Given the description of an element on the screen output the (x, y) to click on. 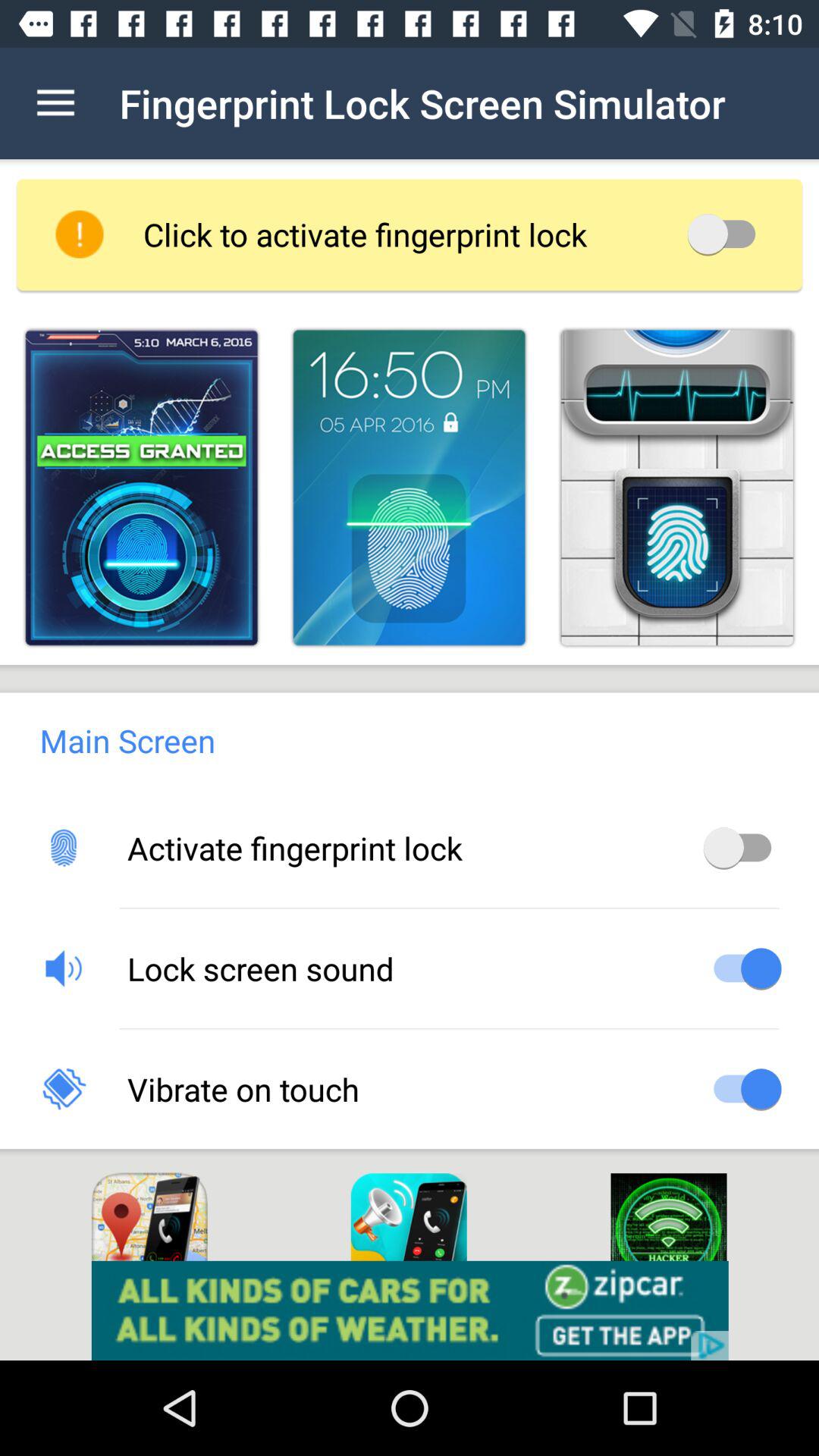
on off (742, 847)
